Given the description of an element on the screen output the (x, y) to click on. 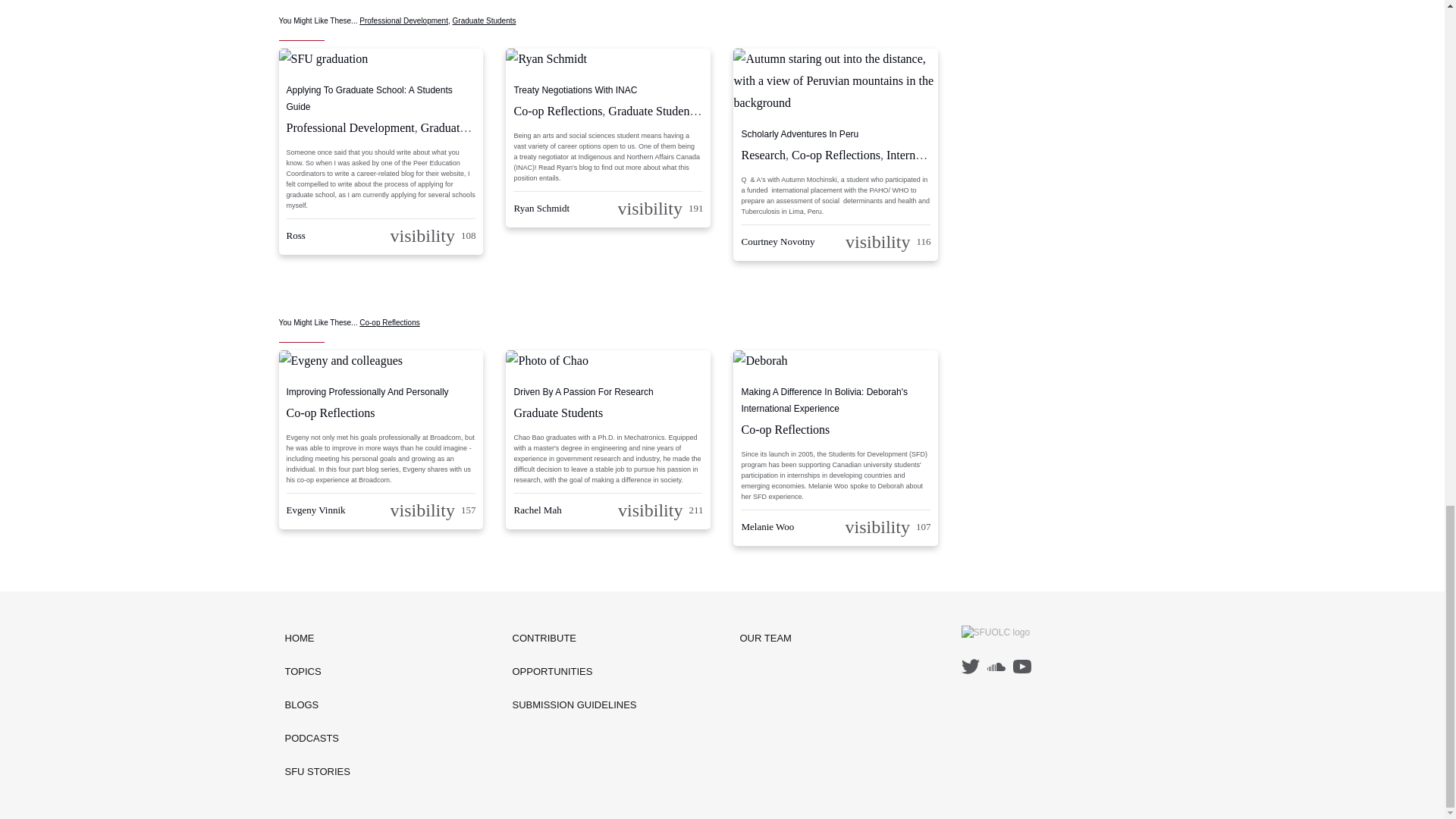
Contribute to the OLC (574, 638)
OLC Blogs (317, 704)
